Given the description of an element on the screen output the (x, y) to click on. 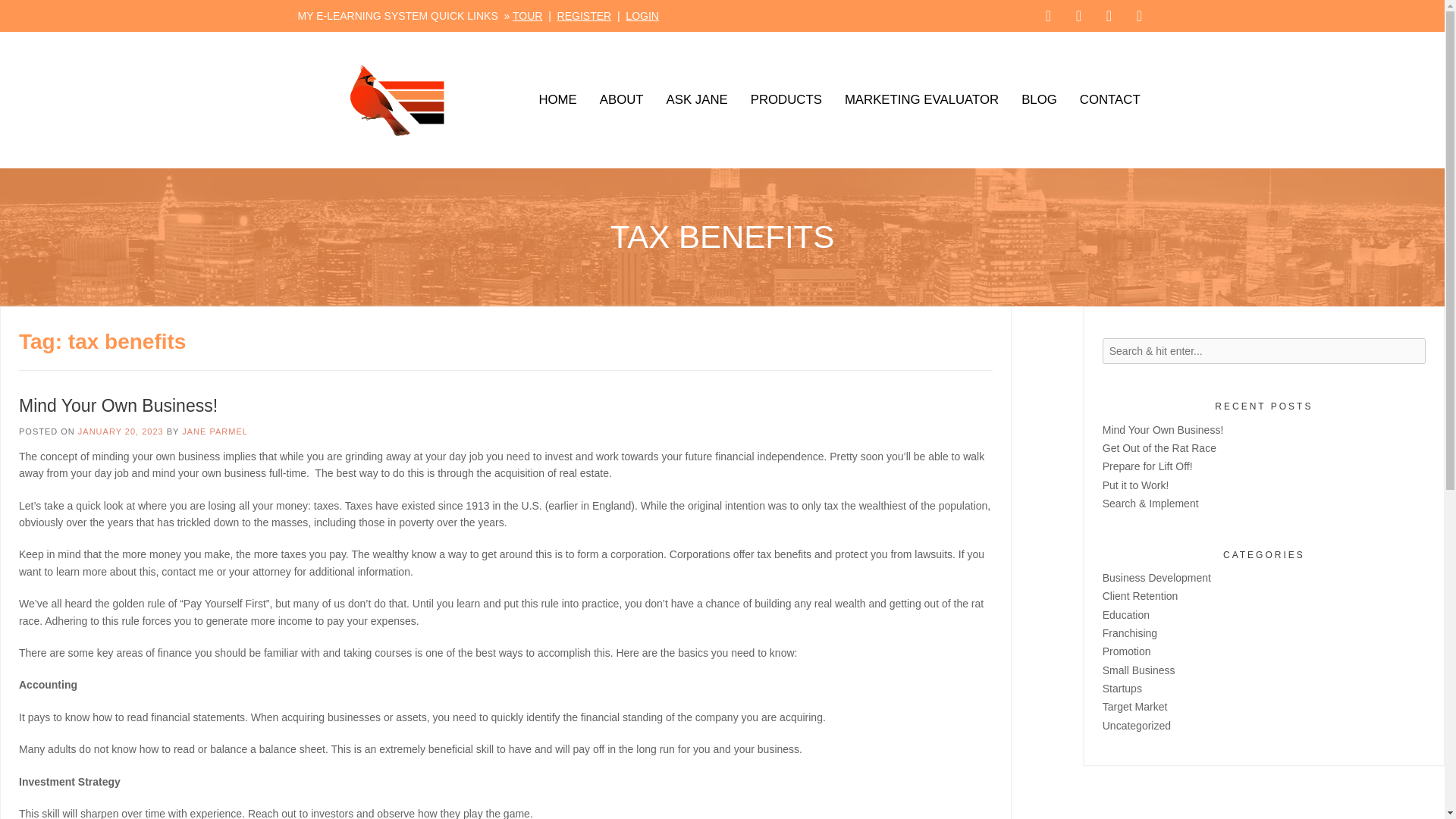
ABOUT (621, 99)
CONTACT (1109, 99)
HOME (557, 99)
ASK JANE (697, 99)
MARKETING EVALUATOR (921, 99)
LOGIN (642, 15)
REGISTER (584, 15)
Mind Your Own Business! (117, 405)
BLOG (1039, 99)
JANE PARMEL (214, 430)
TOUR (526, 15)
PRODUCTS (785, 99)
JANUARY 20, 2023 (120, 430)
